Given the description of an element on the screen output the (x, y) to click on. 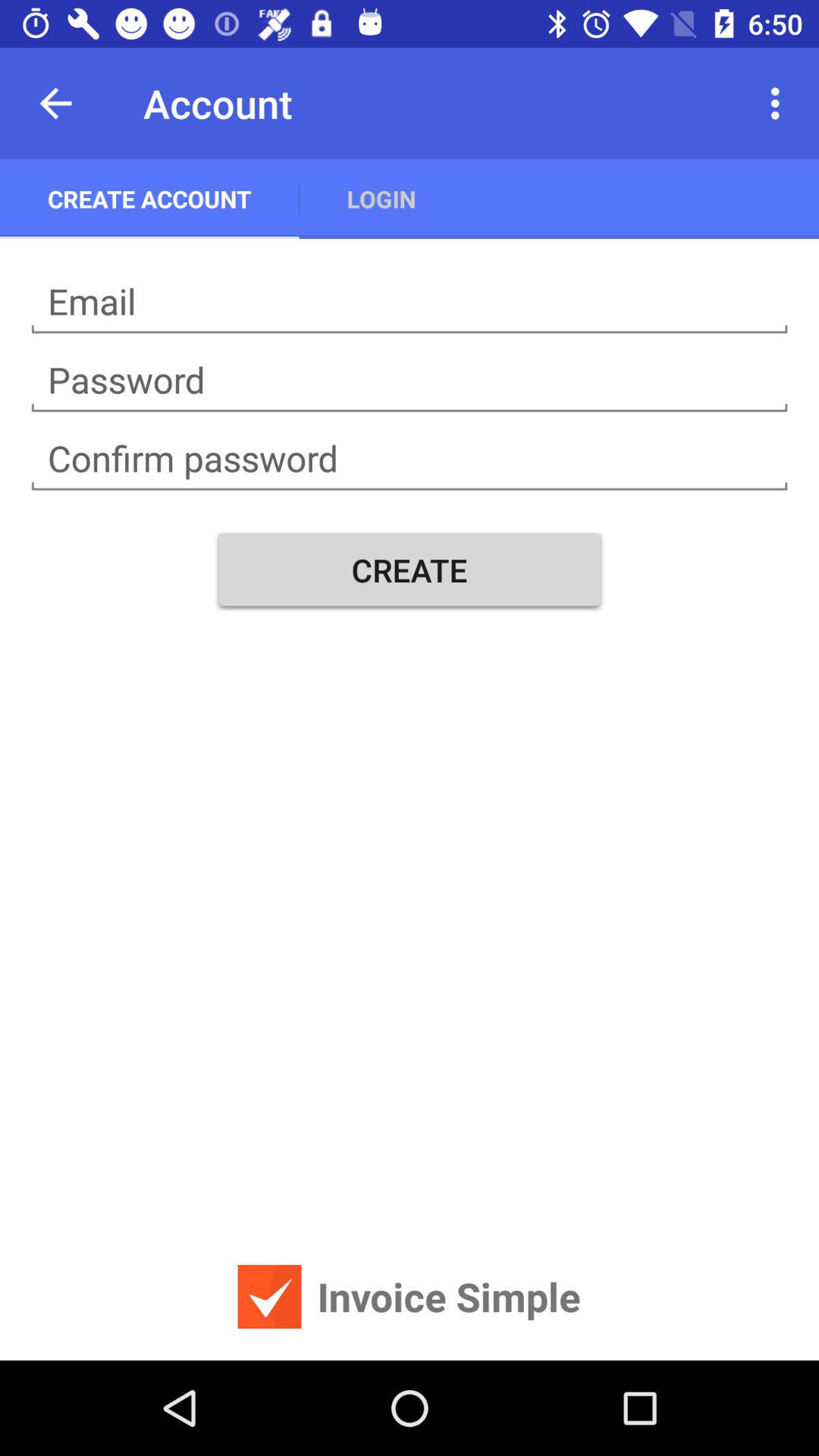
choose item to the right of login app (779, 103)
